Given the description of an element on the screen output the (x, y) to click on. 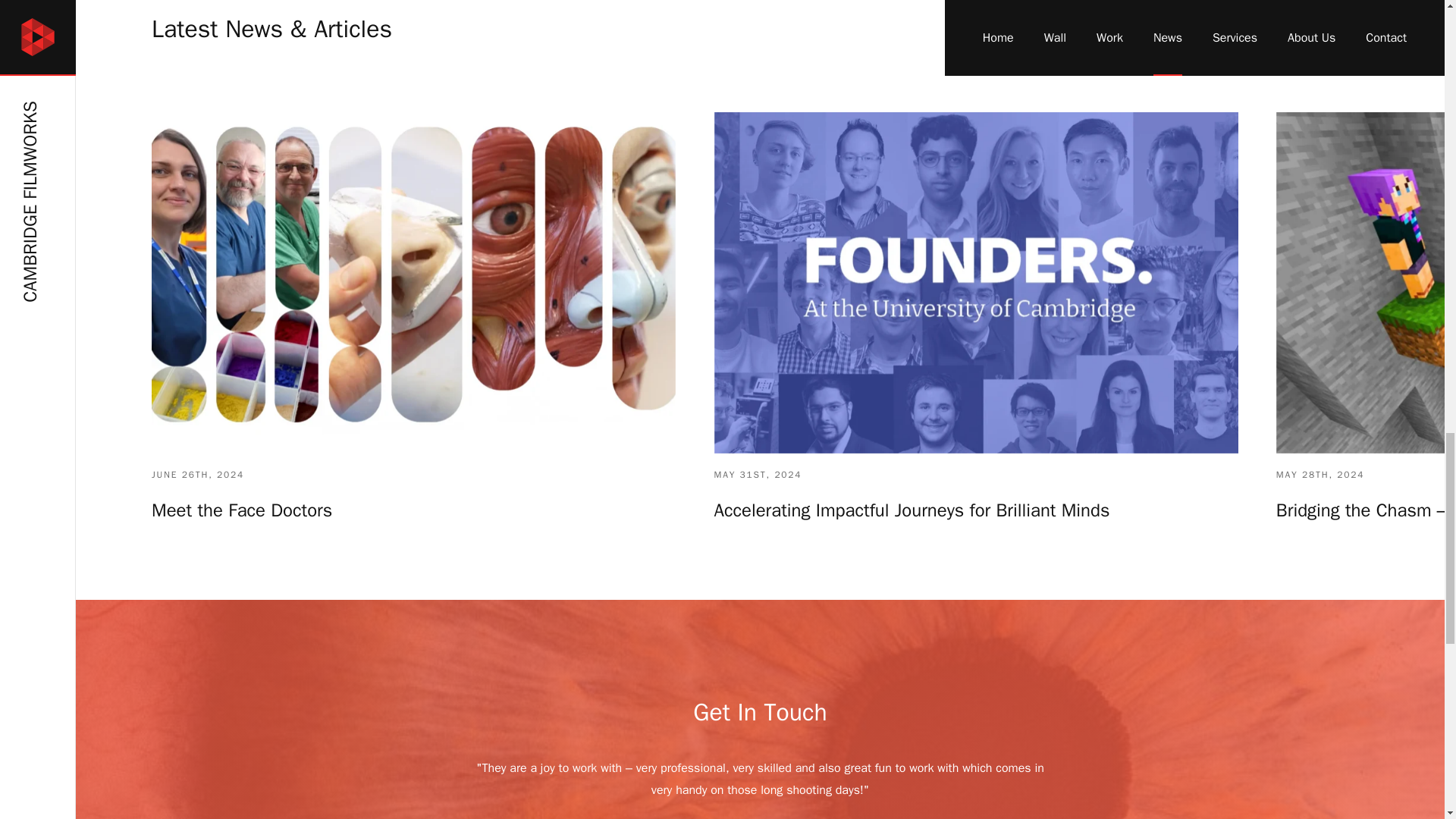
ALL NEWS (1265, 30)
